Given the description of an element on the screen output the (x, y) to click on. 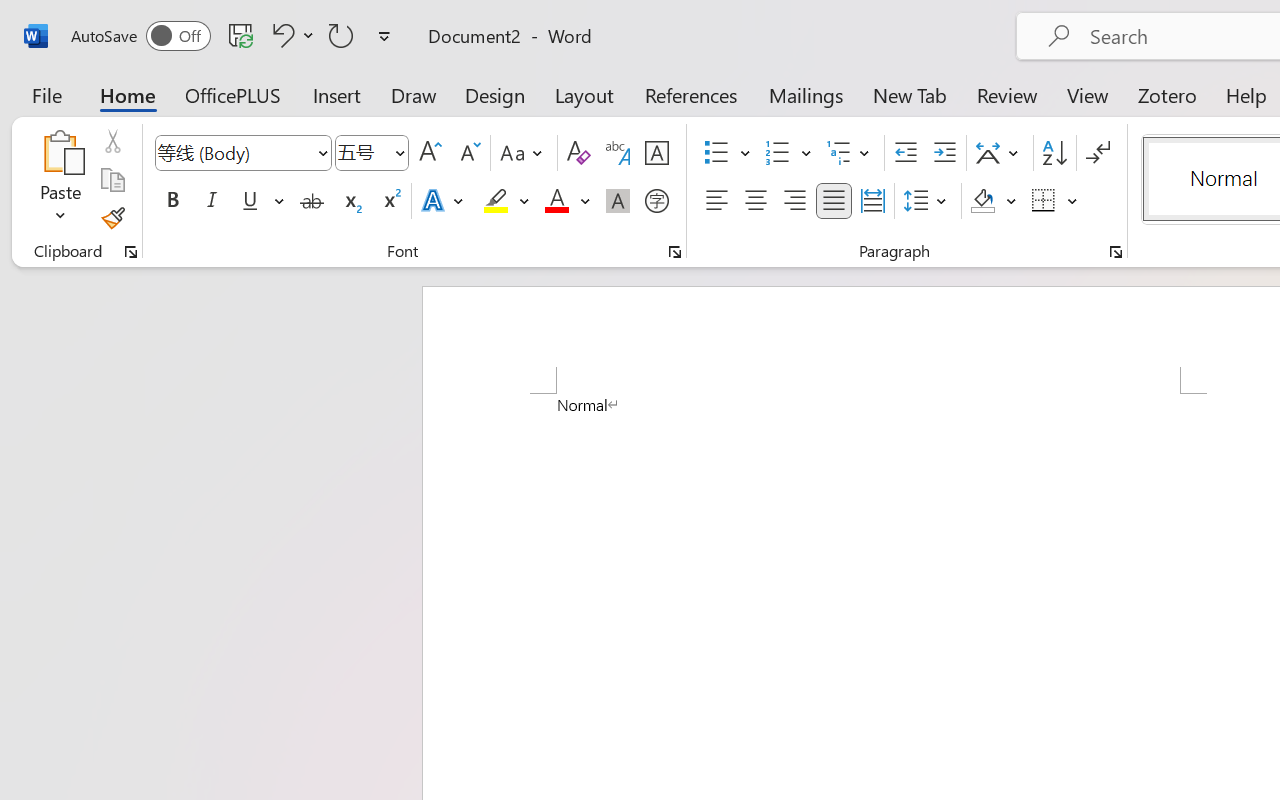
From Beginning... (158, 114)
Save as Show (539, 114)
Learn More (646, 114)
Export to Video (585, 114)
